Given the description of an element on the screen output the (x, y) to click on. 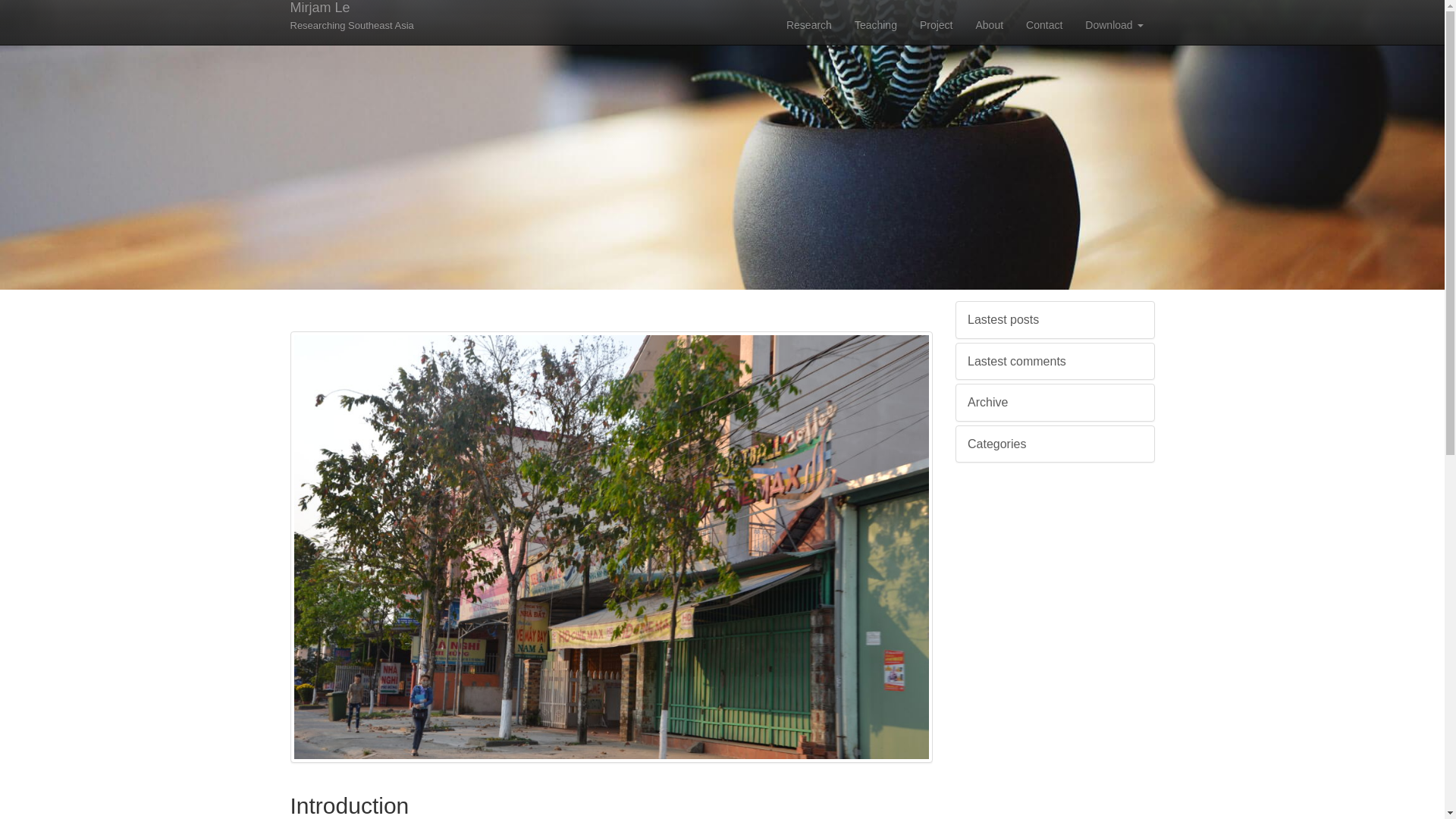
Project (935, 24)
Research (808, 24)
About (988, 24)
Research (352, 21)
About (808, 24)
Lastest comments (988, 24)
Project (1016, 360)
Categories (935, 24)
Teaching (997, 443)
Archive (875, 24)
Contact (987, 401)
Teaching (1044, 24)
Download (875, 24)
Download (1114, 24)
